Given the description of an element on the screen output the (x, y) to click on. 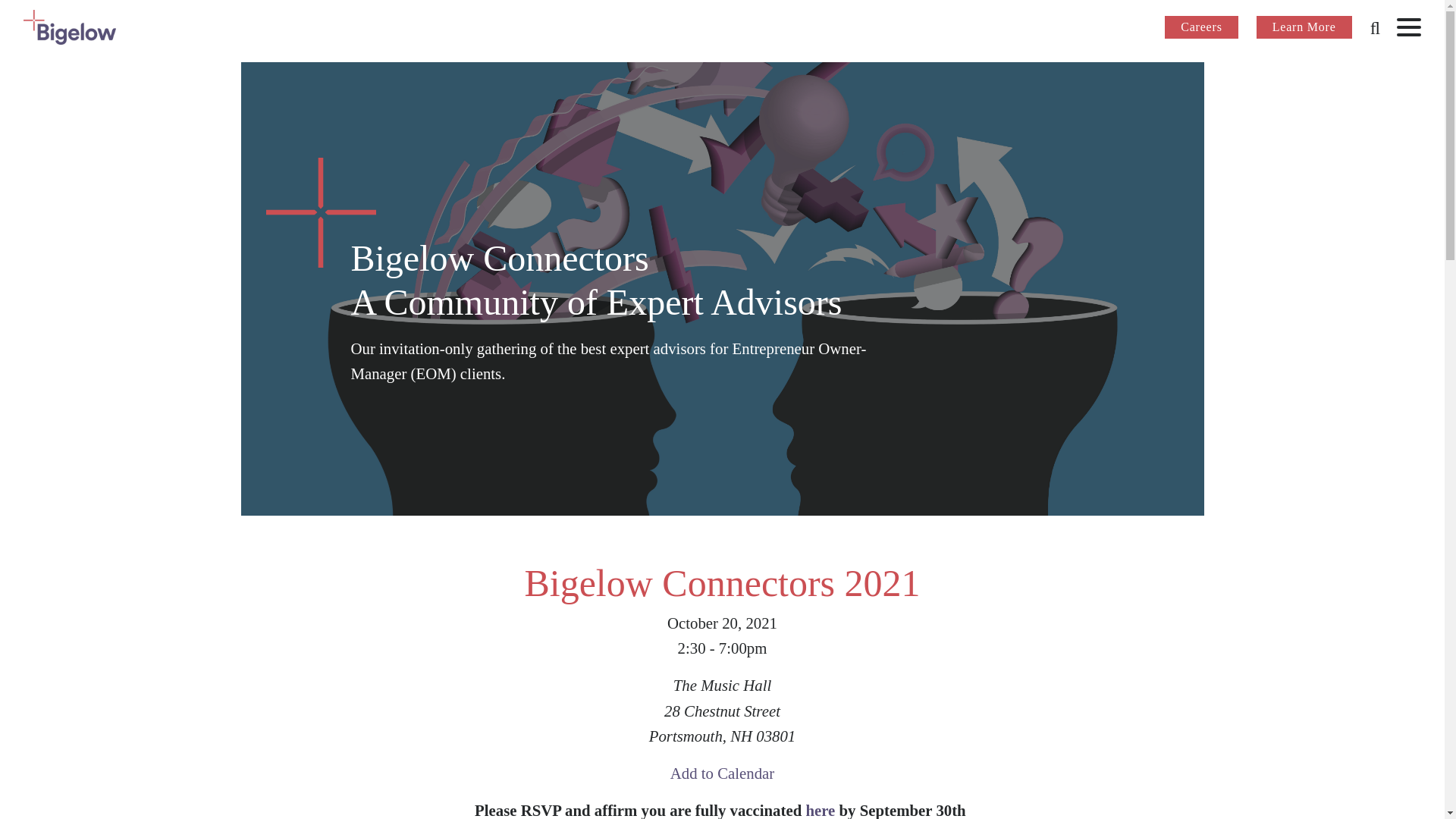
Learn More (1304, 27)
Careers (1200, 27)
Add to Calendar (721, 773)
Add to Calendar (721, 773)
here (819, 810)
